Given the description of an element on the screen output the (x, y) to click on. 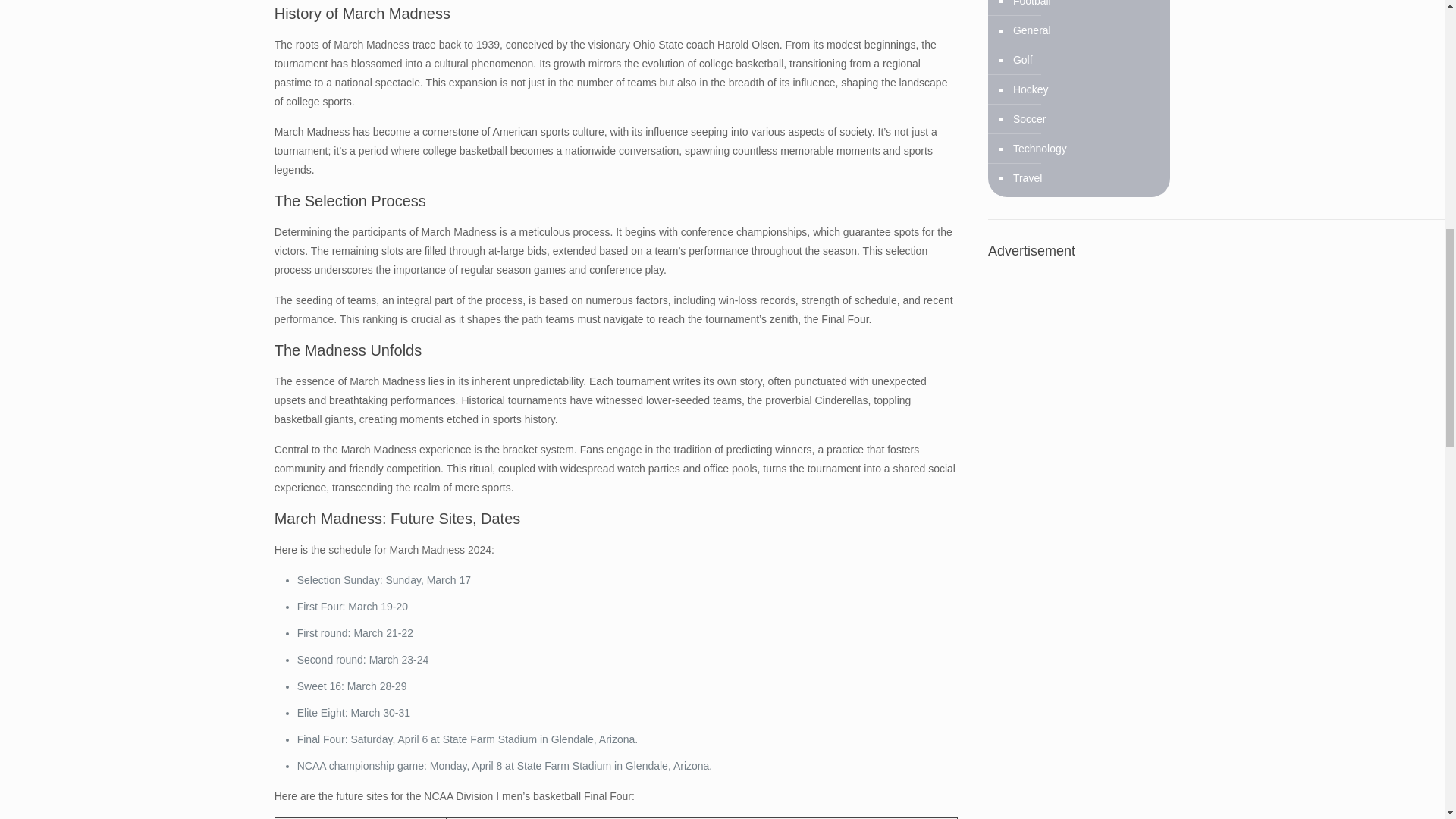
General (1030, 30)
Football (1030, 7)
Hockey (1029, 89)
